Given the description of an element on the screen output the (x, y) to click on. 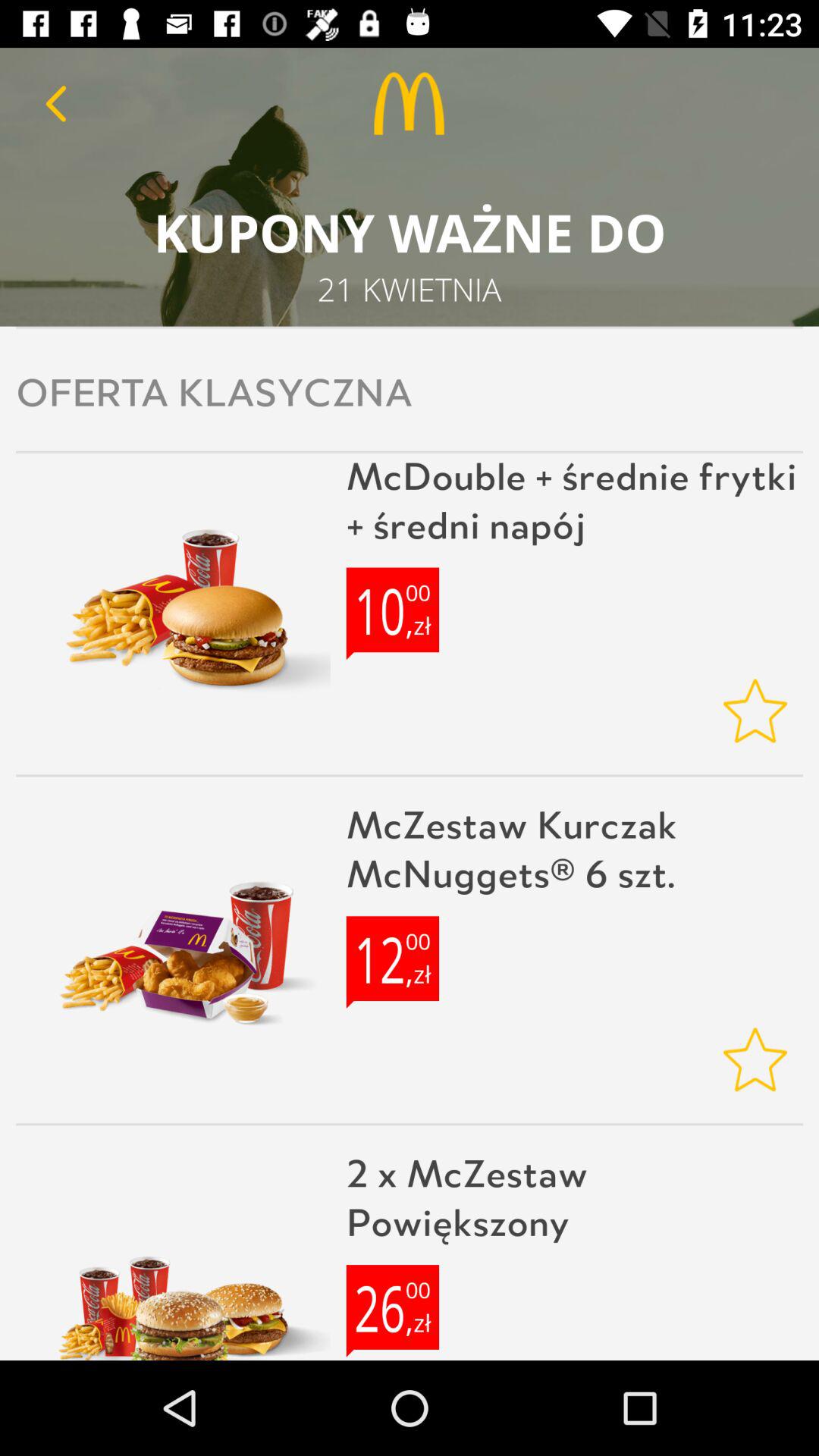
select rating botton (755, 710)
